Given the description of an element on the screen output the (x, y) to click on. 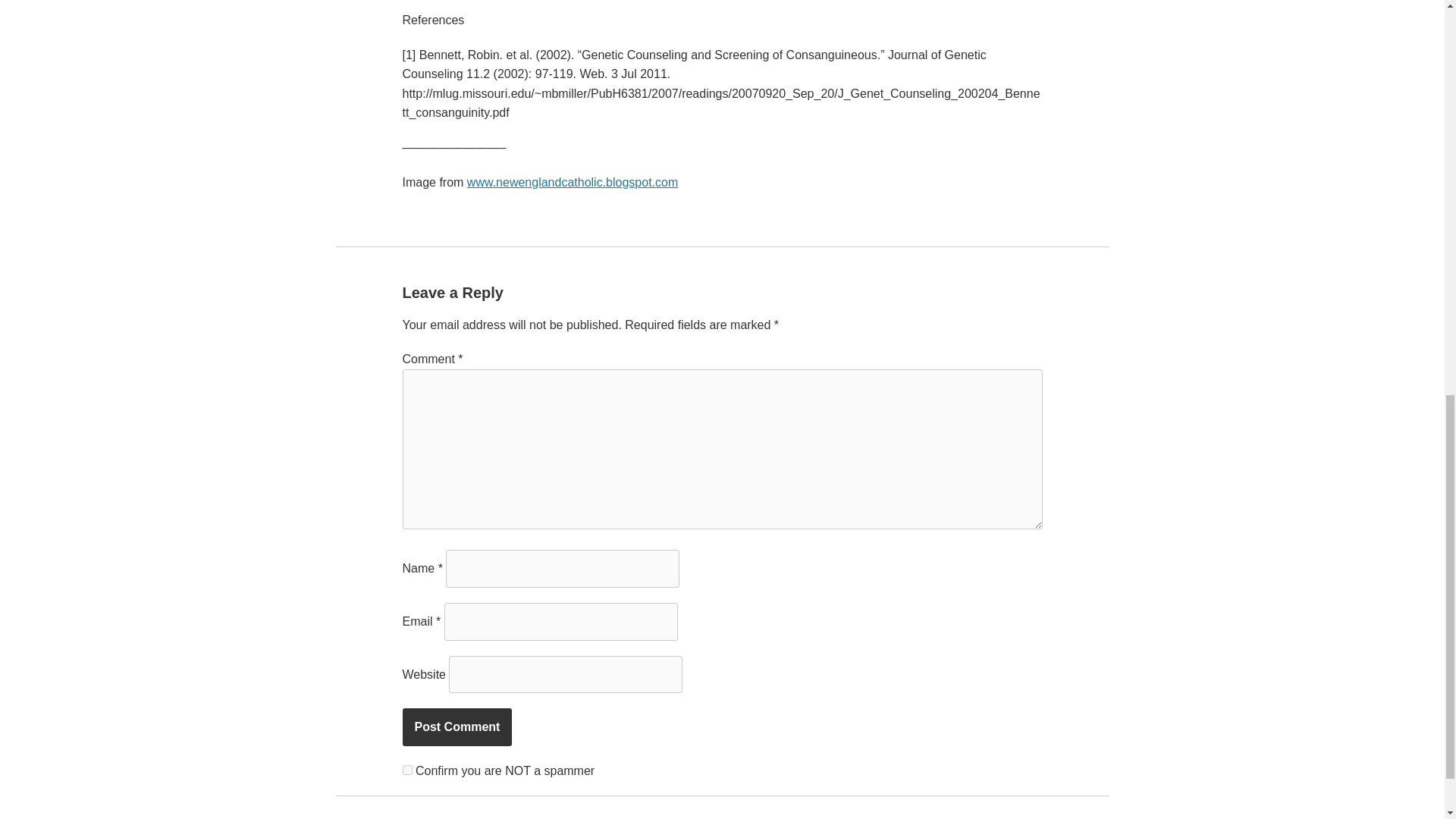
Post Comment (456, 727)
www.newenglandcatholic.blogspot.com (572, 182)
on (406, 769)
Post Comment (456, 727)
